Given the description of an element on the screen output the (x, y) to click on. 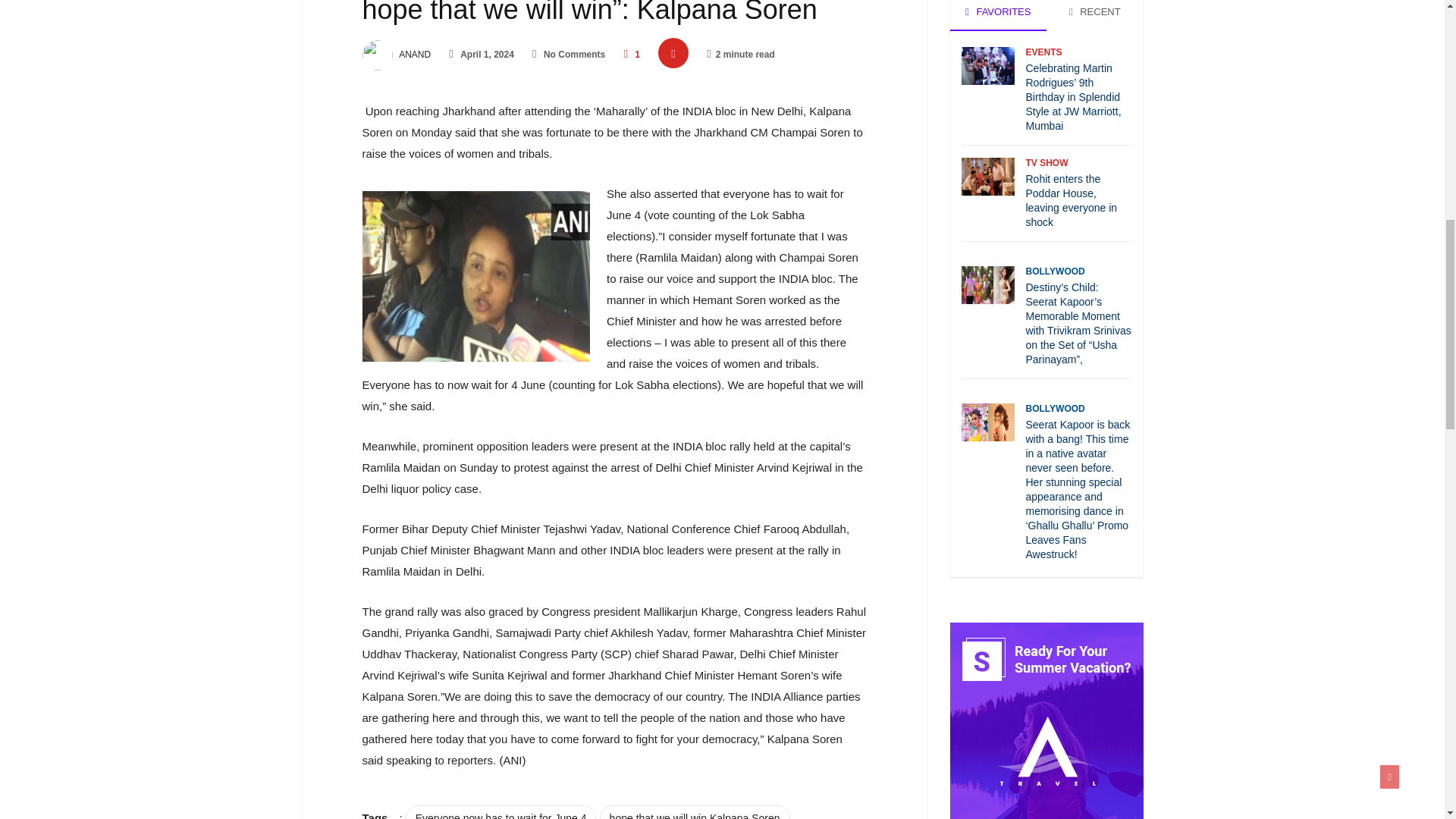
Everyone now has to wait for June 4 (501, 812)
ANAND (396, 54)
hope that we will win Kalpana Soren (694, 812)
